Given the description of an element on the screen output the (x, y) to click on. 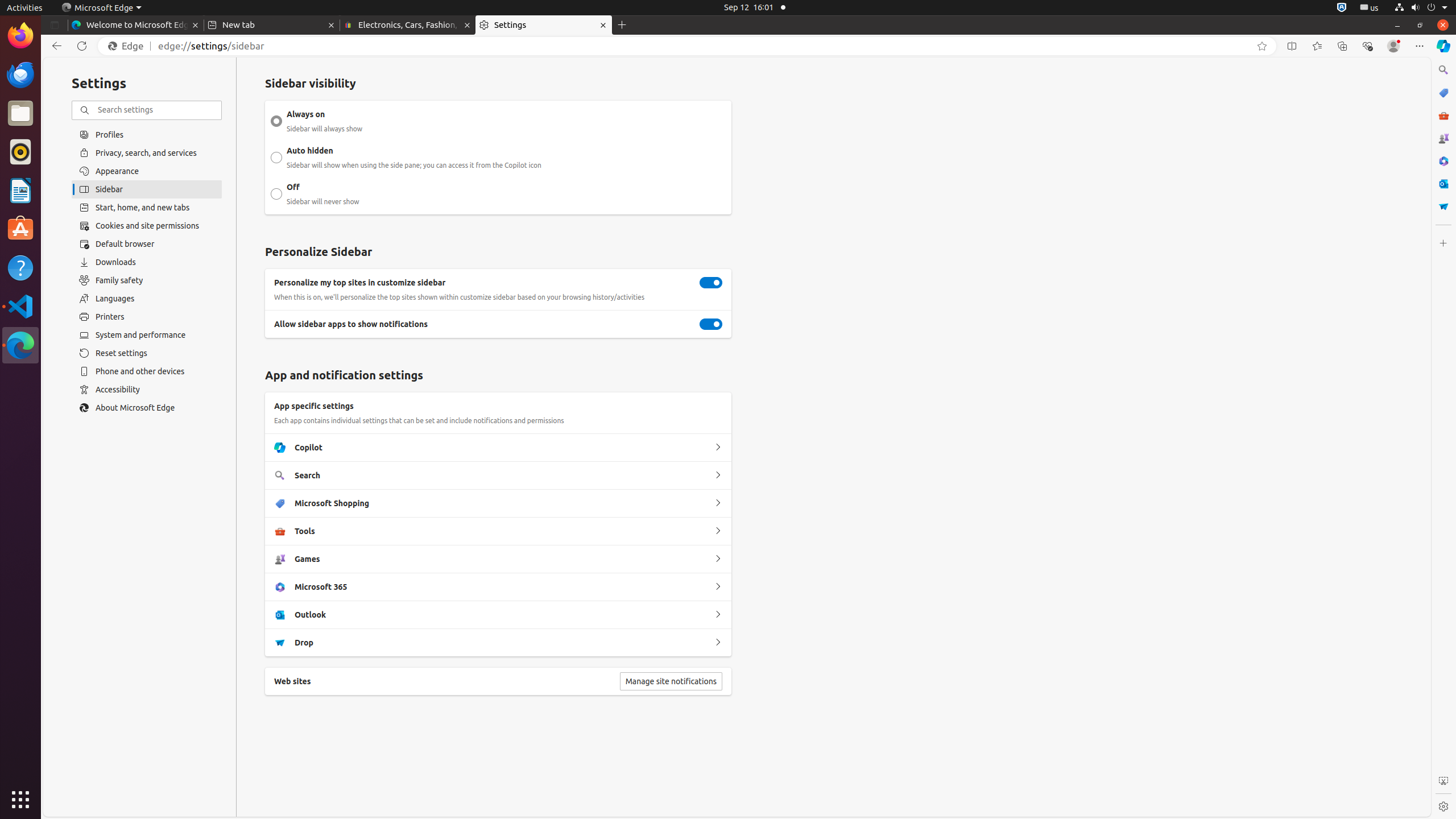
Outlook Element type: push-button (717, 614)
Auto hidden Sidebar will show when using the side pane; you can access it from the Copilot icon Element type: radio-button (276, 157)
Games Element type: push-button (717, 558)
Search Element type: push-button (717, 475)
